Given the description of an element on the screen output the (x, y) to click on. 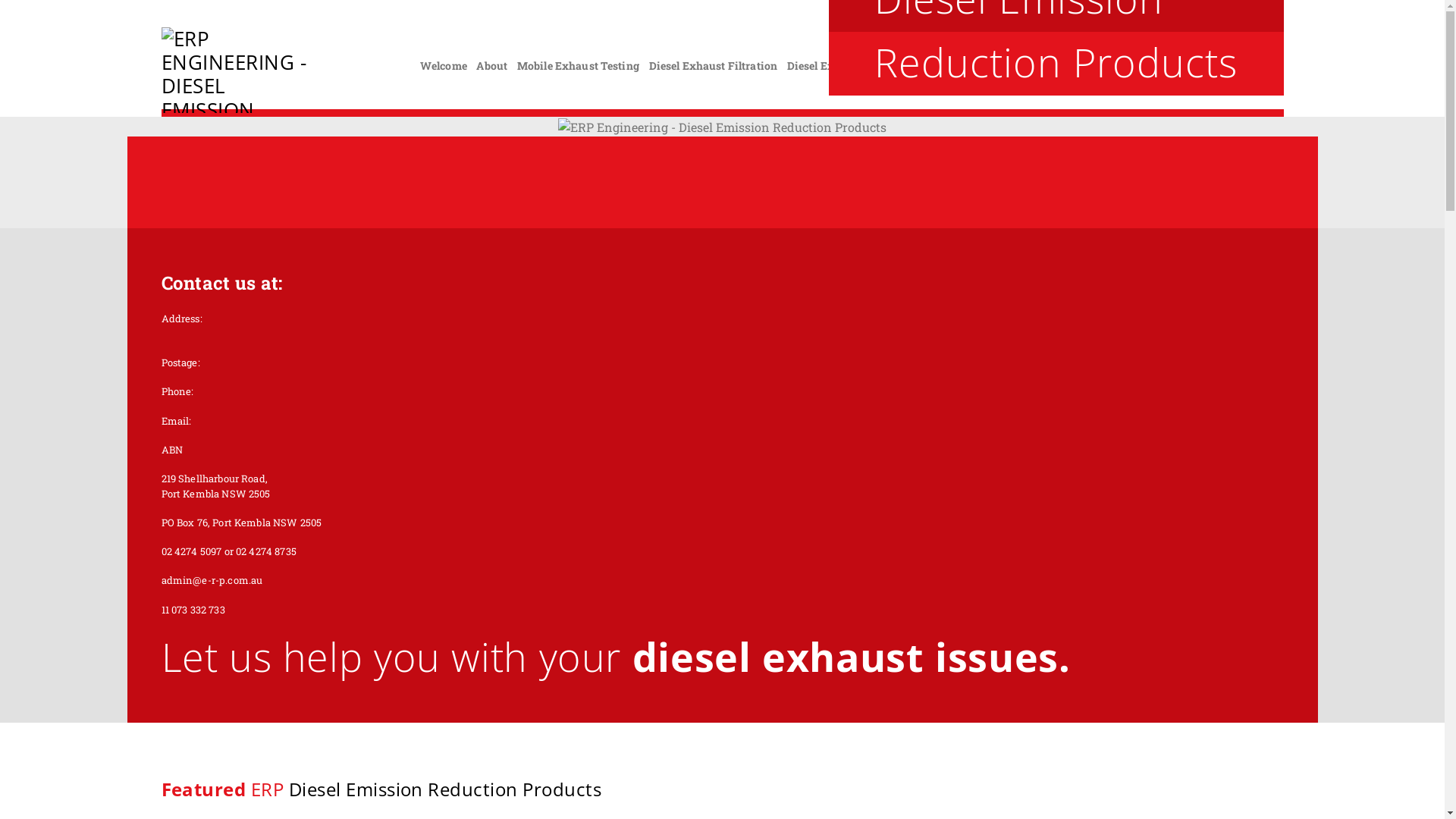
About Element type: text (491, 65)
Diesel Exhaust Monitoring Element type: text (856, 65)
02 4274 5097 Element type: text (1236, 37)
Diesel Test Rig Element type: text (972, 65)
ERP Engineering - Diesel Emission Reduction Products Element type: hover (237, 69)
Research Collaboration Element type: text (1079, 65)
Contact Us Element type: text (1250, 65)
Useful Links Element type: text (1180, 65)
Mobile Exhaust Testing Element type: text (578, 65)
Diesel Exhaust Filtration Element type: text (713, 65)
Welcome Element type: text (443, 65)
